Given the description of an element on the screen output the (x, y) to click on. 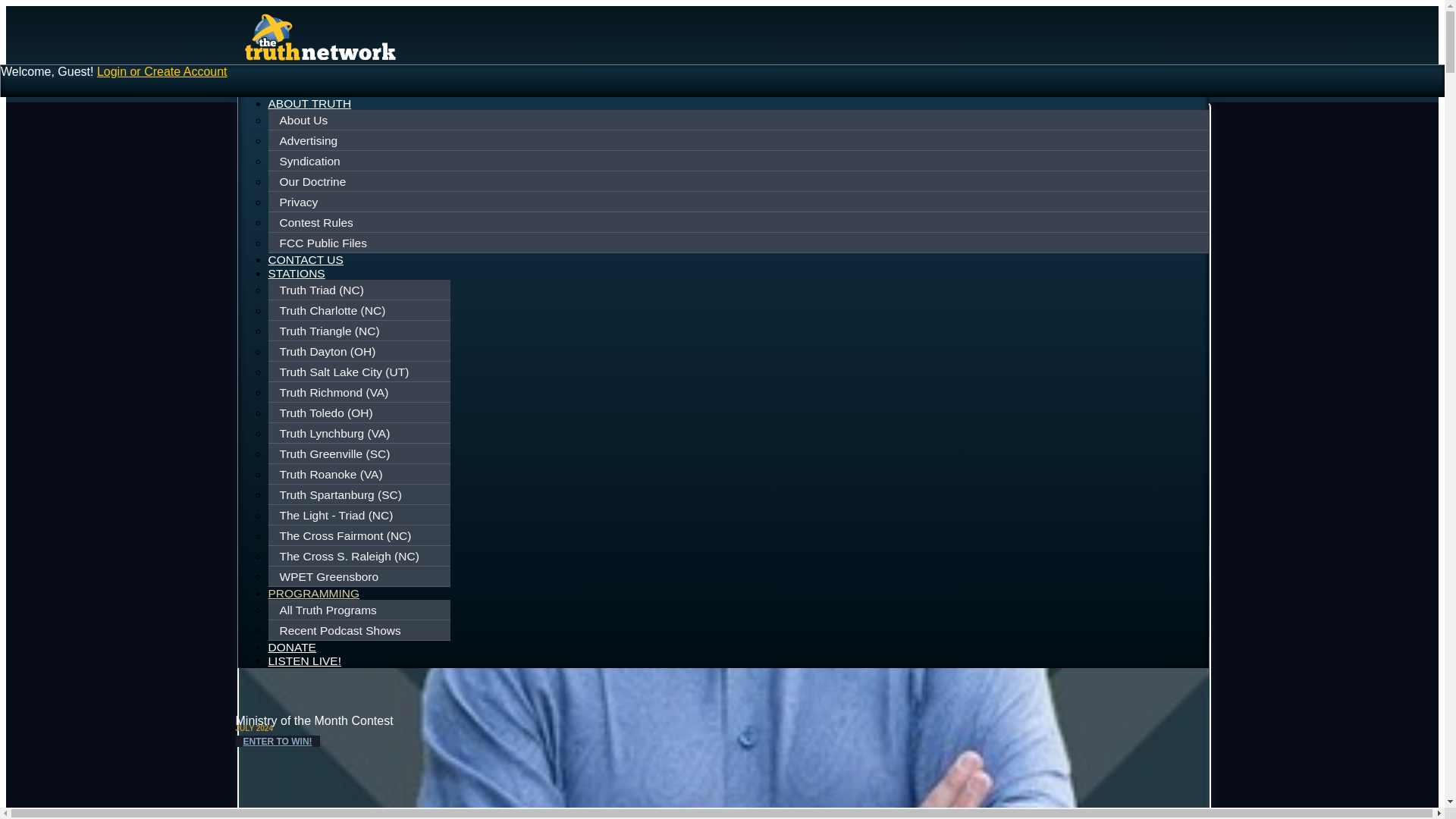
FCC Public Files (739, 243)
Advertising (739, 140)
About Us (739, 120)
Syndication (739, 161)
Privacy (739, 202)
WPET Greensboro (360, 576)
Our Doctrine (739, 181)
HOME (285, 89)
PROGRAMMING (313, 594)
STATIONS (295, 273)
Contest Rules (739, 222)
CONTACT US (305, 259)
ABOUT TRUTH (309, 103)
